Given the description of an element on the screen output the (x, y) to click on. 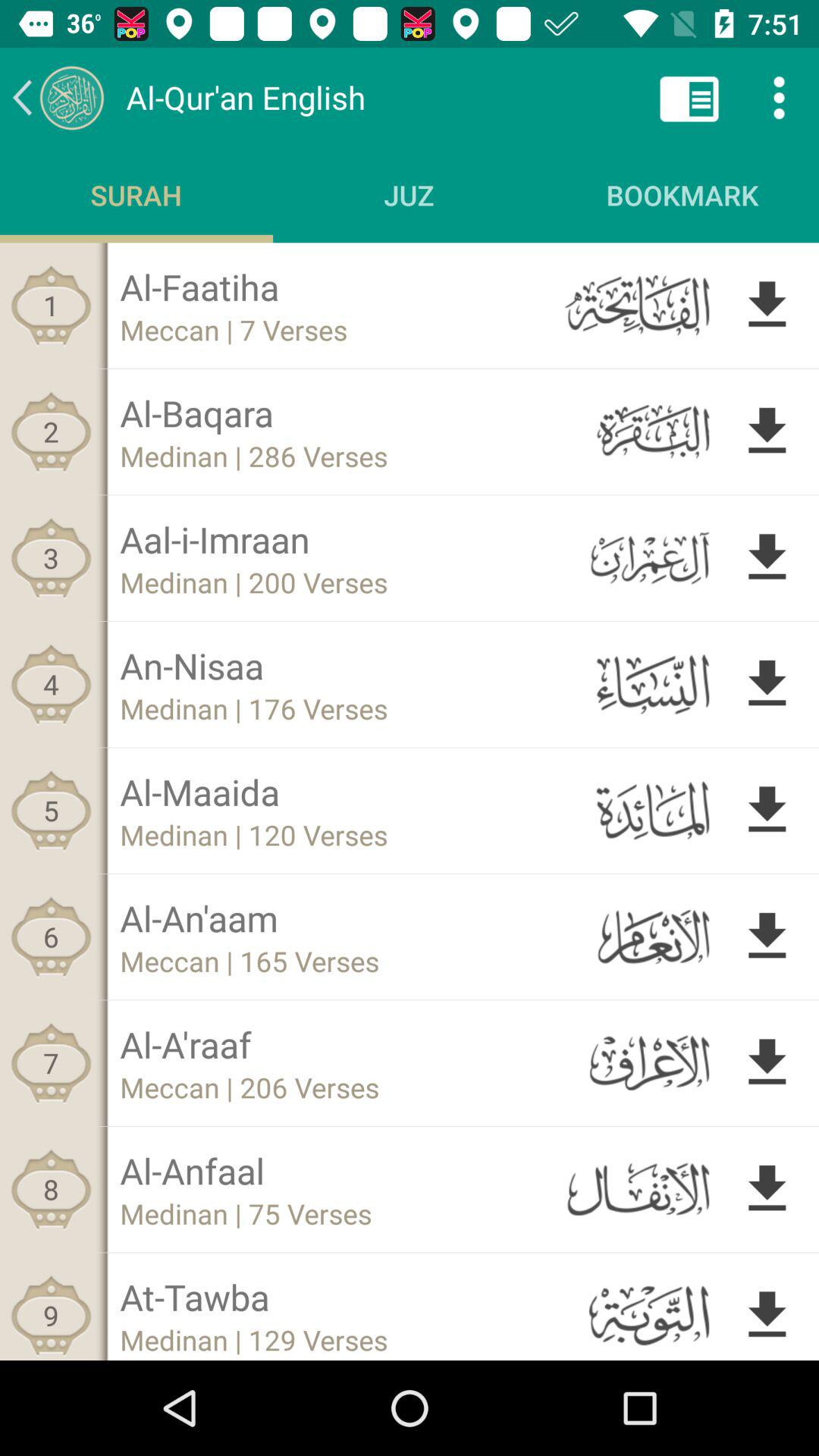
download icon (767, 936)
